Given the description of an element on the screen output the (x, y) to click on. 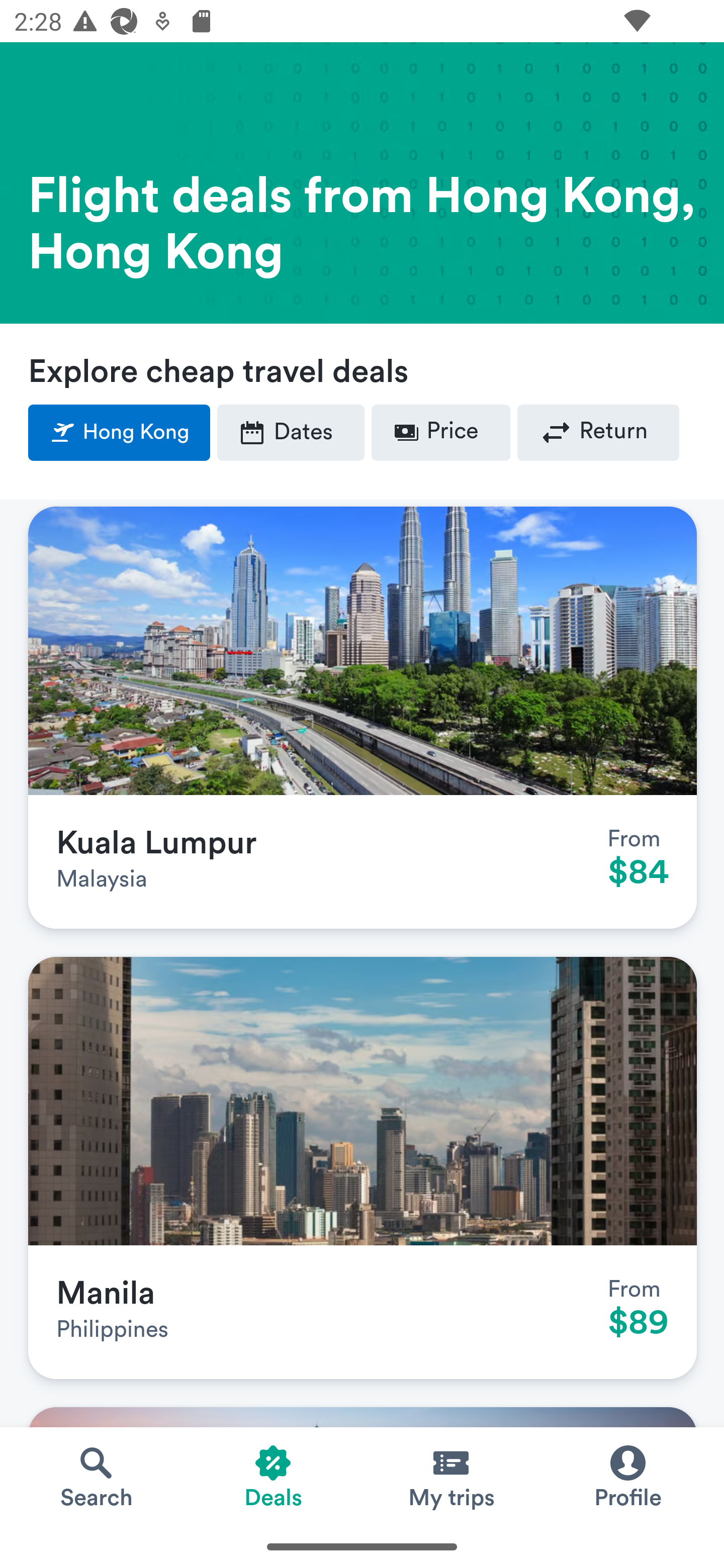
Dates (290, 433)
Price (440, 433)
Return (597, 433)
 Hong Kong (119, 433)
Kuala Lumpur Kuala Lumpur Malaysia From $84 (363, 717)
Manila Manila Philippines From $89 (363, 1167)
Search (95, 1475)
My trips (450, 1475)
Profile (627, 1475)
